Given the description of an element on the screen output the (x, y) to click on. 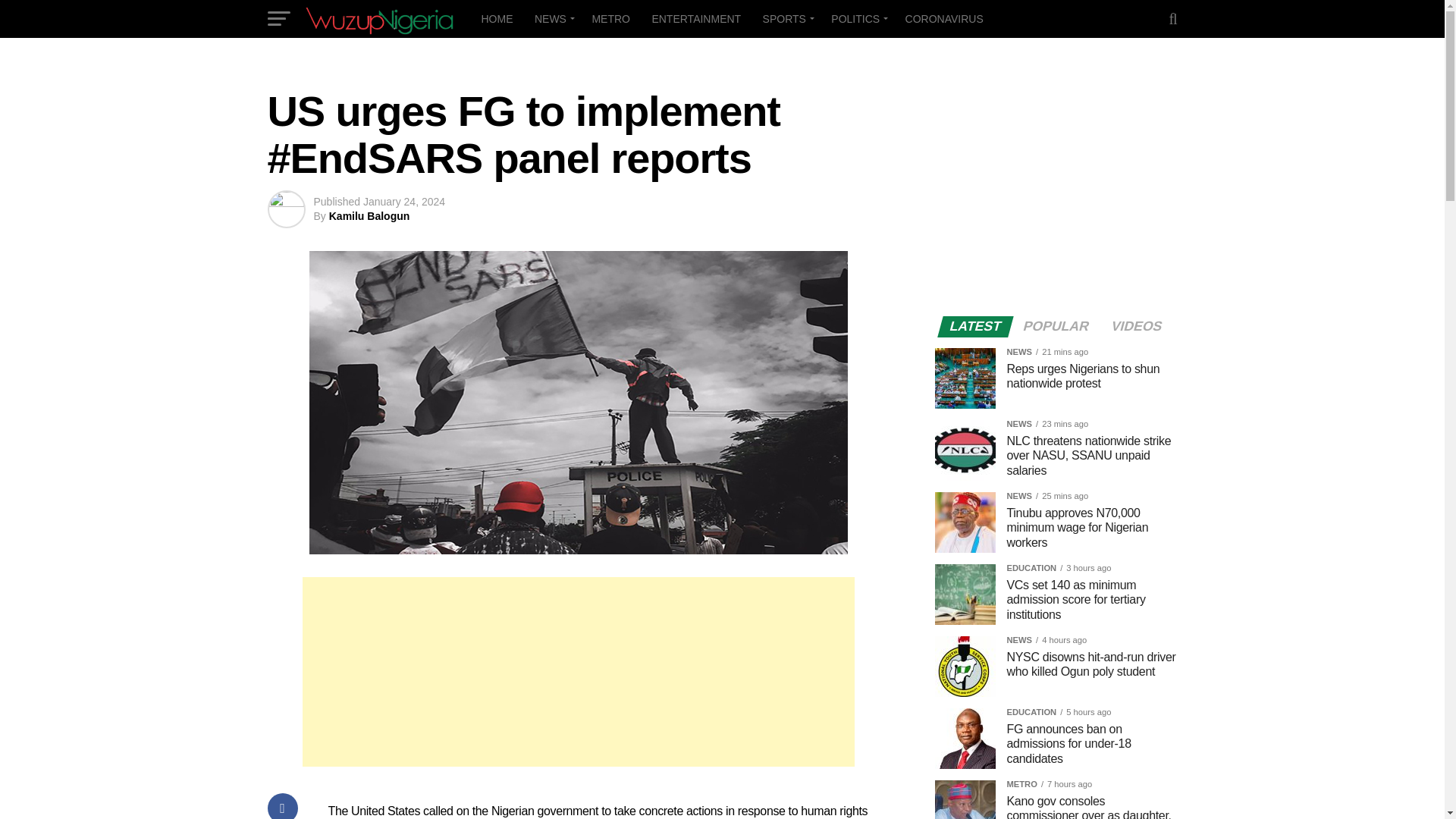
Kamilu Balogun (369, 215)
Posts by Kamilu Balogun (369, 215)
SPORTS (786, 18)
ENTERTAINMENT (695, 18)
CORONAVIRUS (944, 18)
NEWS (552, 18)
POLITICS (857, 18)
HOME (496, 18)
METRO (610, 18)
